Given the description of an element on the screen output the (x, y) to click on. 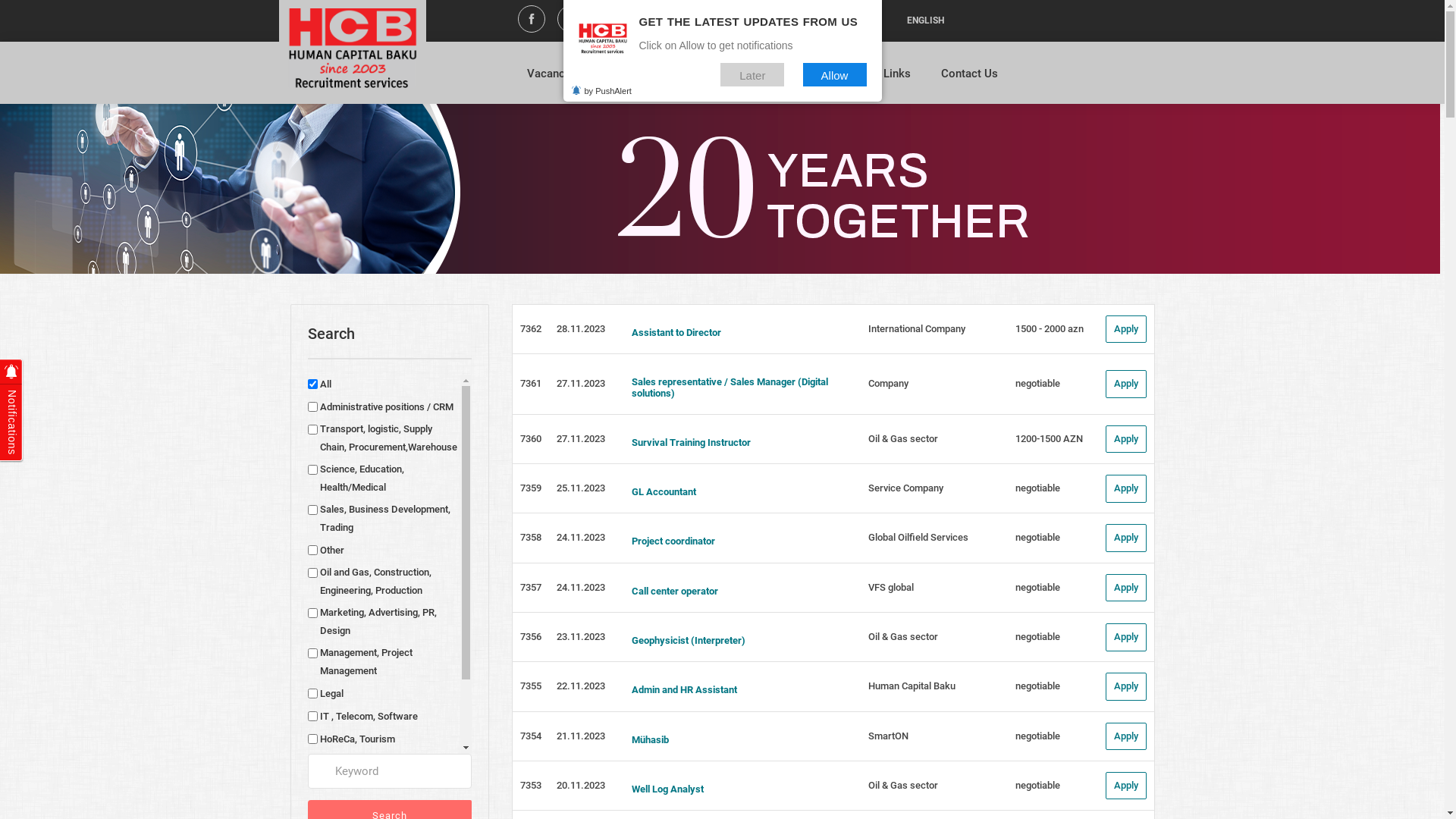
ENGLISH Element type: text (924, 20)
Apply Element type: text (1125, 488)
negotiable Element type: text (1037, 383)
21.11.2023 Element type: text (580, 735)
negotiable Element type: text (1037, 487)
1200-1500 AZN Element type: text (1048, 438)
negotiable Element type: text (1037, 685)
by PushAlert Element type: text (600, 90)
Geophysicist (Interpreter) Element type: text (736, 640)
Apply Element type: text (1125, 384)
7359 Element type: text (530, 487)
28.11.2023 Element type: text (580, 328)
GL Accountant Element type: text (736, 491)
negotiable Element type: text (1037, 587)
negotiable Element type: text (1037, 735)
Apply Element type: text (1125, 588)
1500 - 2000 azn Element type: text (1049, 328)
7355 Element type: text (530, 685)
negotiable Element type: text (1037, 536)
25.11.2023 Element type: text (580, 487)
20.11.2023 Element type: text (580, 784)
SmartON Element type: text (888, 735)
7356 Element type: text (530, 636)
Vacancies Element type: text (553, 79)
Apply Element type: text (1125, 637)
Project coordinator Element type: text (736, 541)
24.11.2023 Element type: text (580, 536)
Instagram Element type: hover (570, 20)
23.11.2023 Element type: text (580, 636)
Contact Us Element type: text (969, 79)
7362 Element type: text (530, 328)
24.11.2023 Element type: text (580, 587)
Apply Element type: text (1125, 736)
Apply Element type: text (1125, 538)
Later Element type: text (752, 74)
Apply Element type: text (1125, 785)
Company Element type: text (888, 383)
Survival Training Instructor Element type: text (736, 442)
negotiable Element type: text (1037, 784)
Well Log Analyst Element type: text (736, 789)
Global Oilfield Services Element type: text (918, 536)
27.11.2023 Element type: text (580, 438)
7353 Element type: text (530, 784)
Admin and HR Assistant Element type: text (736, 689)
22.11.2023 Element type: text (580, 685)
Services Element type: text (709, 79)
Apply Element type: text (1125, 439)
International Company Element type: text (916, 328)
negotiable Element type: text (1037, 636)
7357 Element type: text (530, 587)
Allow Element type: text (834, 74)
Oil & Gas sector Element type: text (903, 784)
Service Company Element type: text (905, 487)
Oil & Gas sector Element type: text (903, 636)
7358 Element type: text (530, 536)
VFS global Element type: text (890, 587)
About Us Element type: text (633, 79)
Sales representative / Sales Manager (Digital solutions) Element type: text (736, 387)
Useful Links Element type: text (878, 79)
7360 Element type: text (530, 438)
Apply Element type: text (1125, 329)
7354 Element type: text (530, 735)
Human Capital Baku Element type: text (911, 685)
Call center operator Element type: text (736, 591)
Oil & Gas sector Element type: text (903, 438)
27.11.2023 Element type: text (580, 383)
7361 Element type: text (530, 383)
Facebook Element type: hover (531, 20)
Assistant to Director Element type: text (736, 332)
Our Clients Element type: text (789, 79)
Telegram Element type: hover (649, 20)
Apply Element type: text (1125, 686)
Linkedin Element type: hover (610, 20)
